Given the description of an element on the screen output the (x, y) to click on. 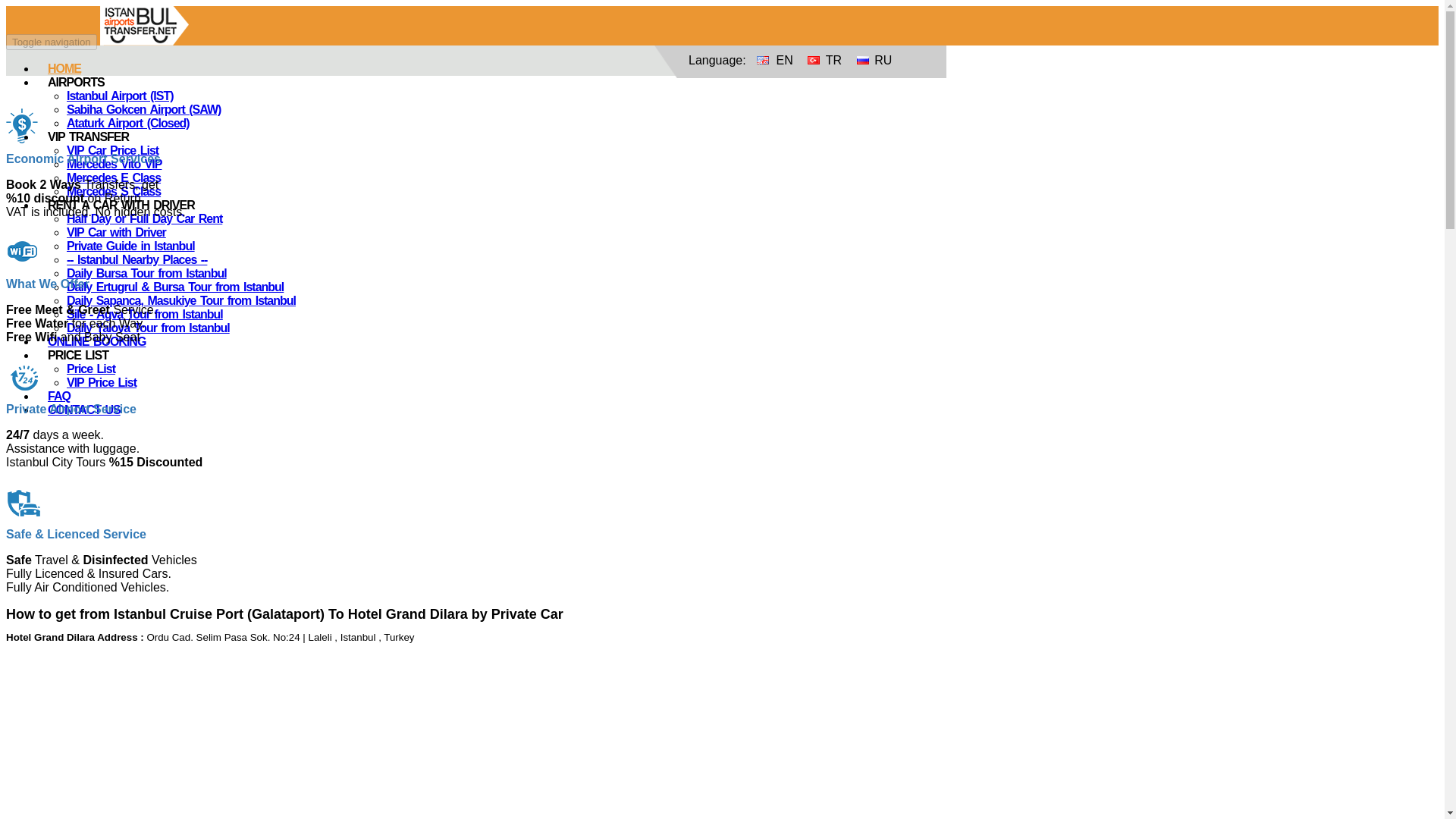
Sile - Agva Tour from Istanbul (144, 314)
Istanbul Near by Places (136, 259)
Private Guide in Istanbul (130, 245)
Mercedes E Class (113, 177)
Daily Sapanca, Masukiye Tour from Istanbul (180, 300)
VIP Price List (101, 382)
Price List (90, 368)
Mercedes Vito VIP (113, 164)
Daily Yalova Tour from Istanbul (148, 327)
VIP Car with Driver (115, 232)
